Given the description of an element on the screen output the (x, y) to click on. 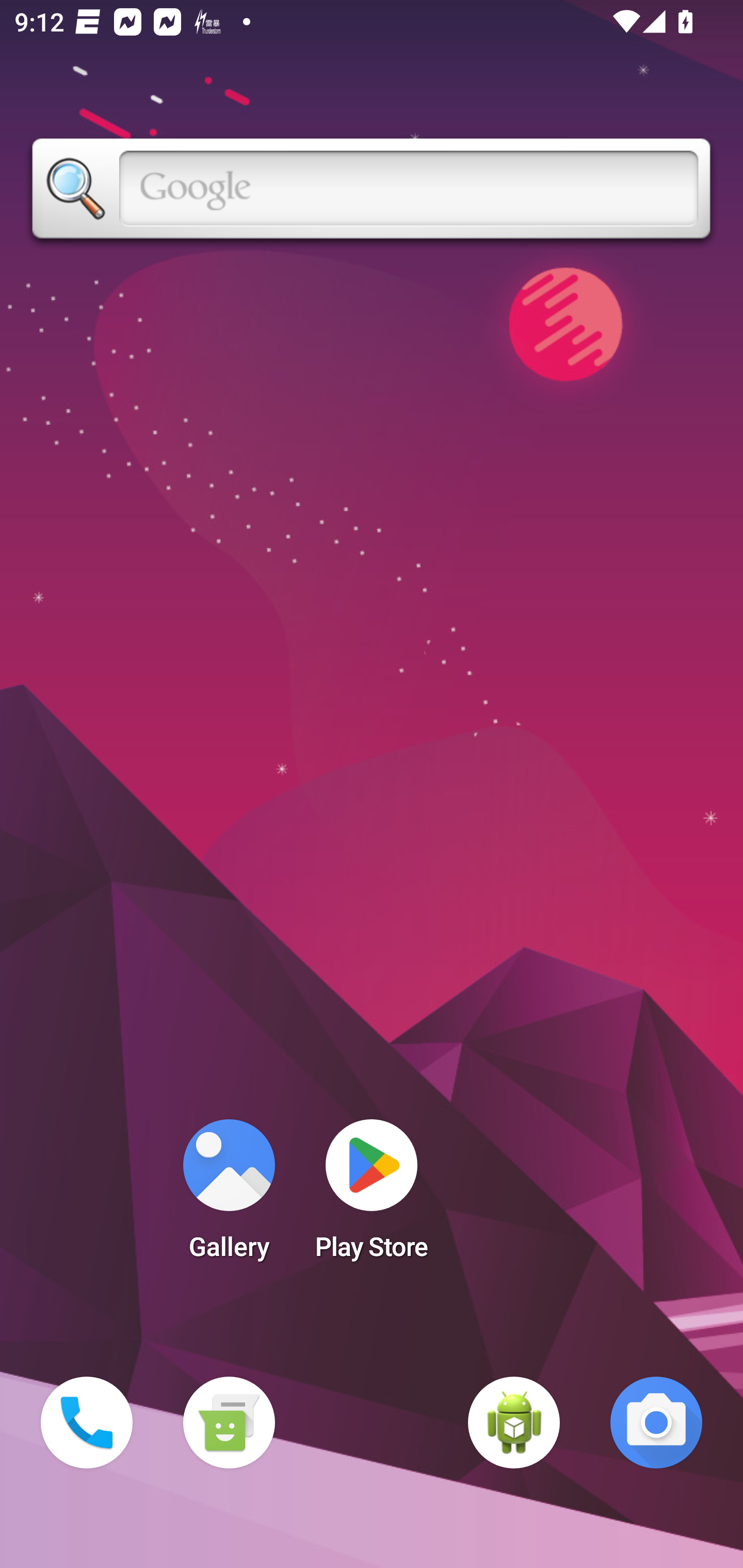
Gallery (228, 1195)
Play Store (371, 1195)
Phone (86, 1422)
Messaging (228, 1422)
WebView Browser Tester (513, 1422)
Camera (656, 1422)
